Given the description of an element on the screen output the (x, y) to click on. 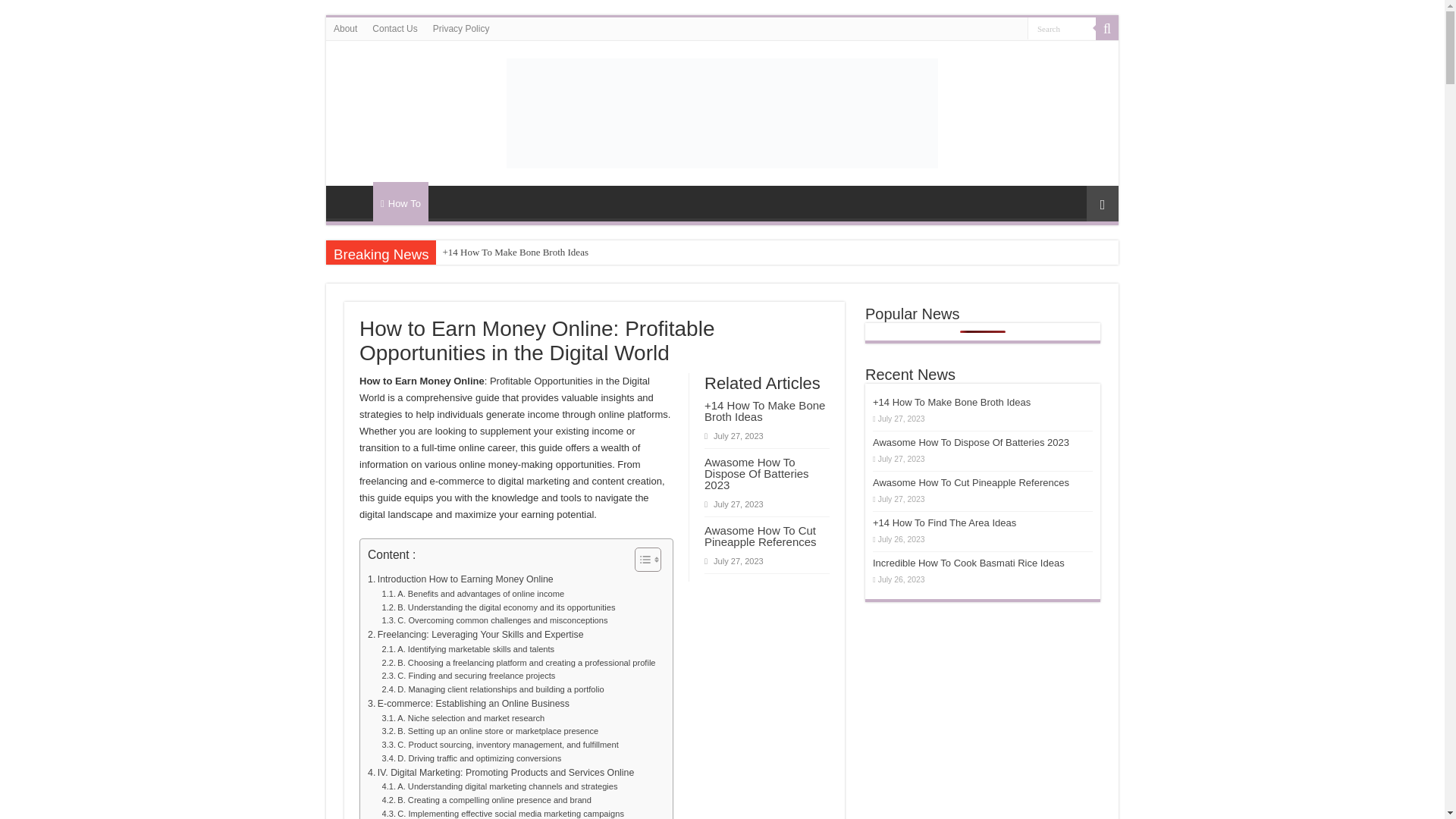
Introduction How to Earning Money Online (460, 580)
Awasome How To Dispose Of Batteries 2023 (756, 473)
C. Overcoming common challenges and misconceptions (494, 621)
Search (1061, 28)
B. Setting up an online store or marketplace presence (489, 731)
C. Finding and securing freelance projects (468, 676)
About (345, 28)
C. Product sourcing, inventory management, and fulfillment (499, 745)
Dynalabs News (721, 110)
